Given the description of an element on the screen output the (x, y) to click on. 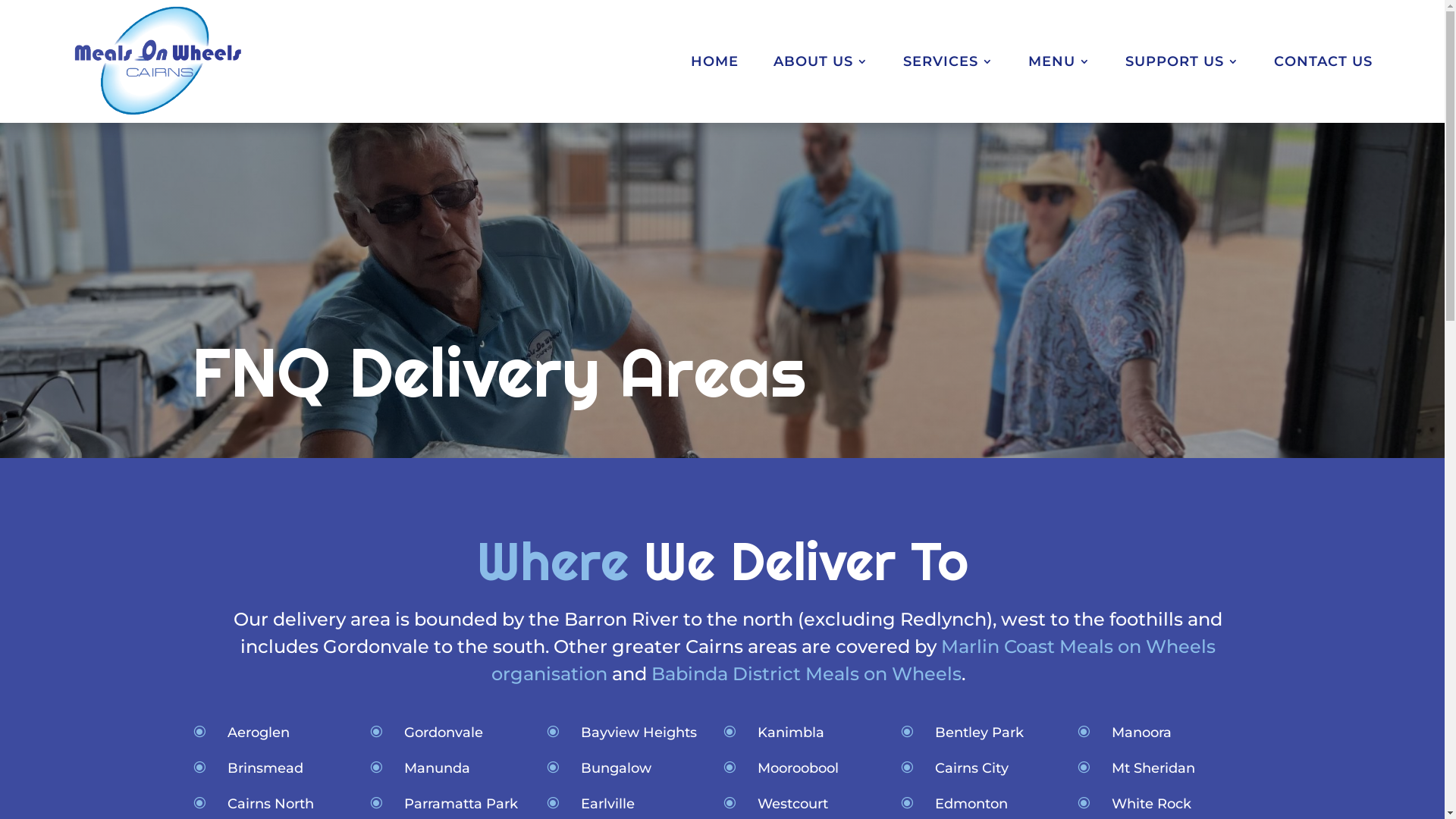
Marlin Coast Meals on Wheels organisation Element type: text (853, 659)
ABOUT US Element type: text (820, 61)
SERVICES Element type: text (948, 61)
SUPPORT US Element type: text (1182, 61)
Babinda District Meals on Wheels Element type: text (805, 673)
CONTACT US Element type: text (1323, 61)
HOME Element type: text (714, 61)
MENU Element type: text (1059, 61)
